Given the description of an element on the screen output the (x, y) to click on. 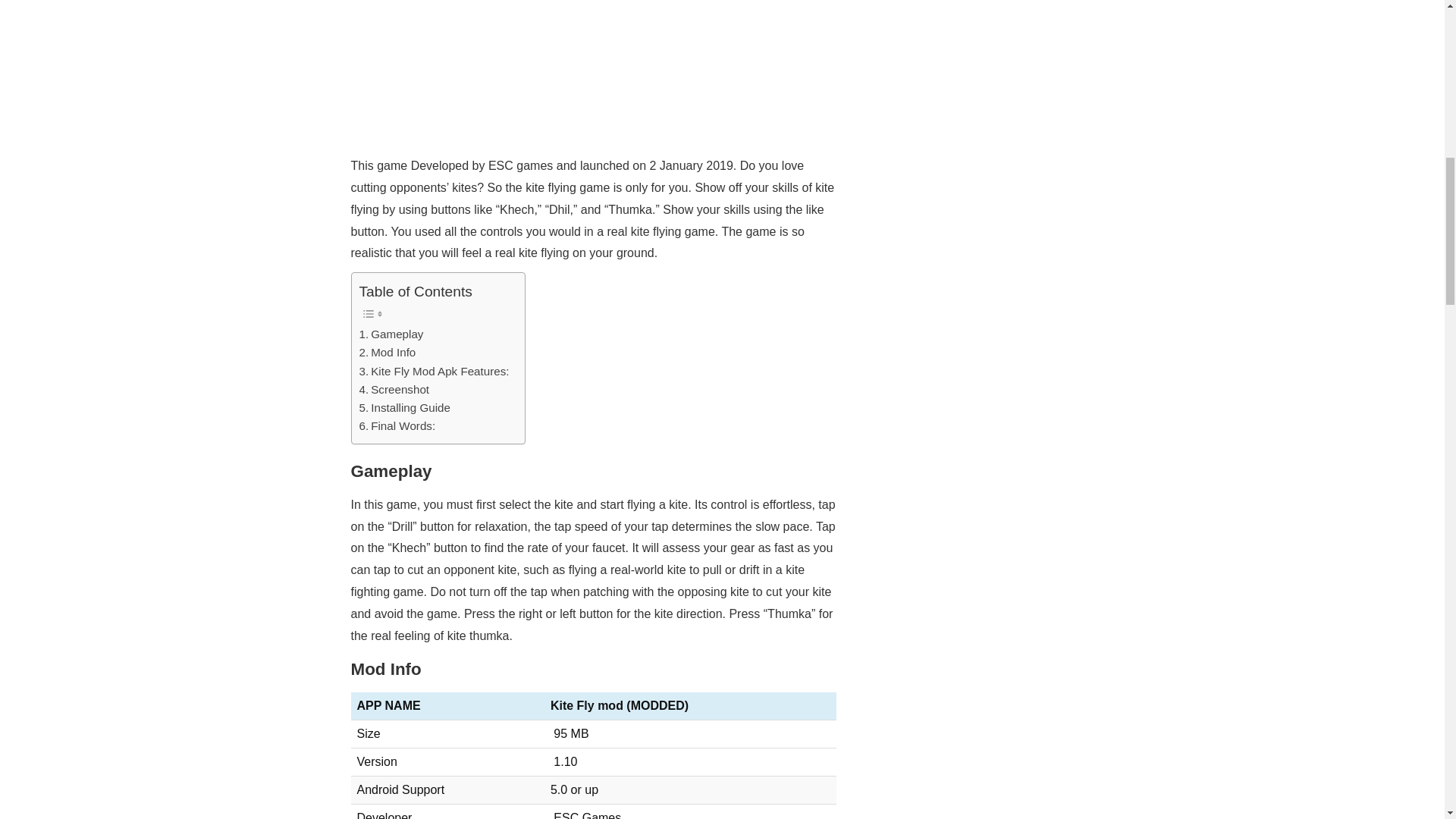
Gameplay  (392, 334)
Kite Fly Mod Apk Features: (434, 371)
Final Words: (397, 425)
Kite Fly Mod Apk Features: (434, 371)
Installing Guide   (408, 407)
Final Words: (397, 425)
Screenshot (394, 389)
Screenshot (394, 389)
Mod Info (387, 352)
